Given the description of an element on the screen output the (x, y) to click on. 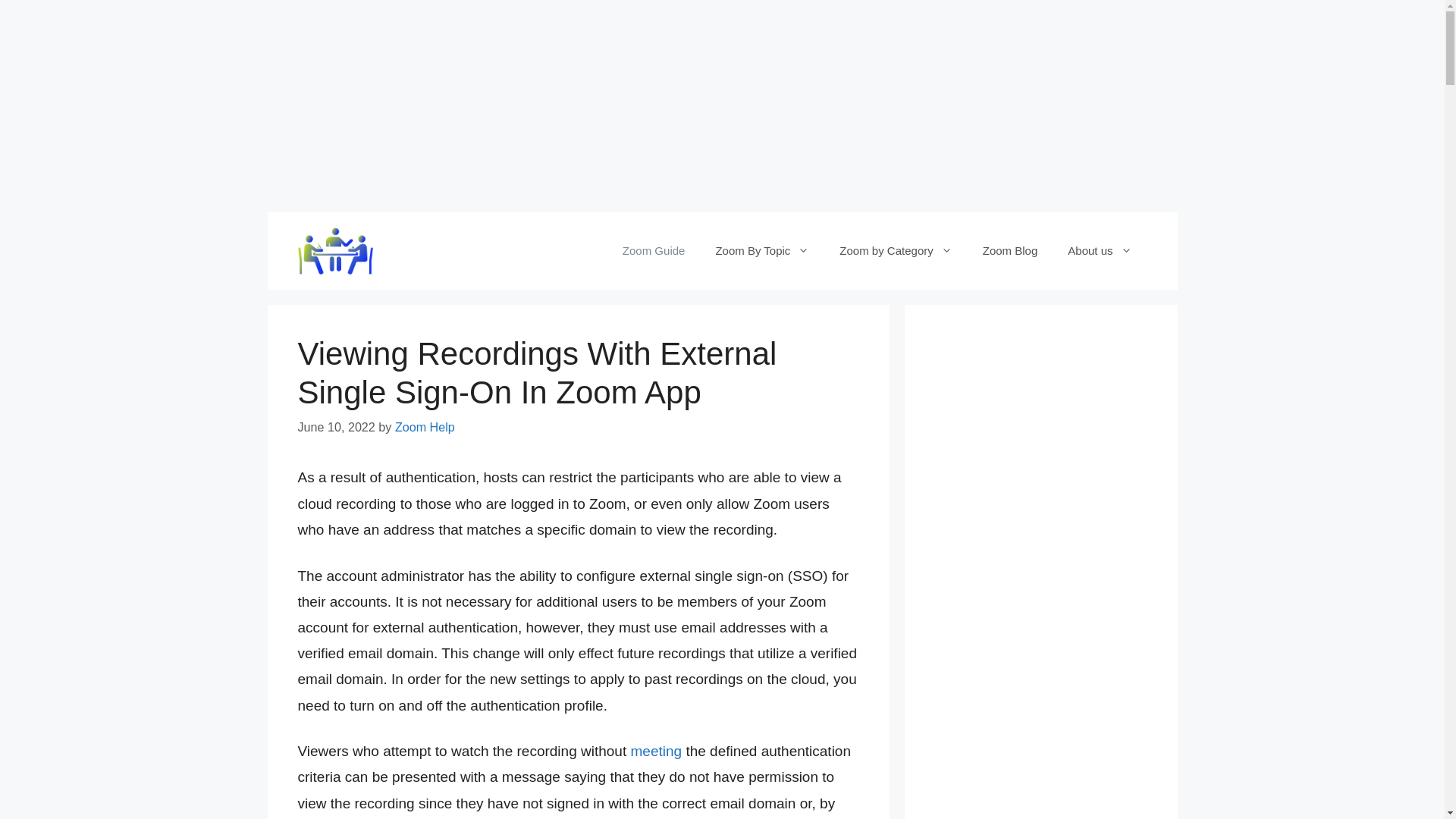
Zoom By Topic (762, 250)
View all posts by Zoom Help (424, 427)
Zoom by Category (895, 250)
Zoom Guide (653, 250)
meeting (656, 750)
